Given the description of an element on the screen output the (x, y) to click on. 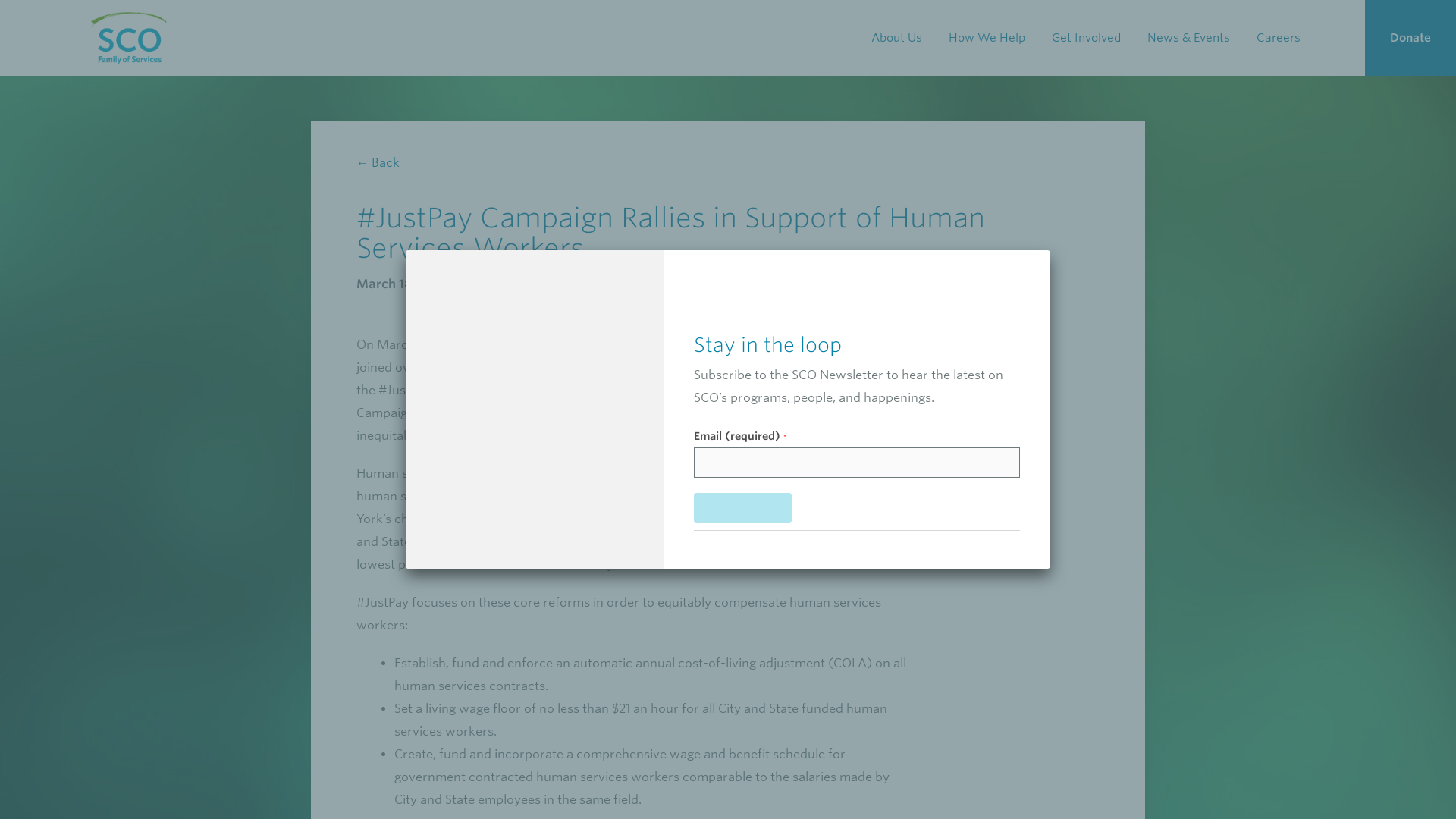
About Us (901, 38)
How We Help (991, 38)
Get Involved (1091, 38)
Subscribe (743, 508)
Search (15, 15)
Careers (1284, 38)
